Given the description of an element on the screen output the (x, y) to click on. 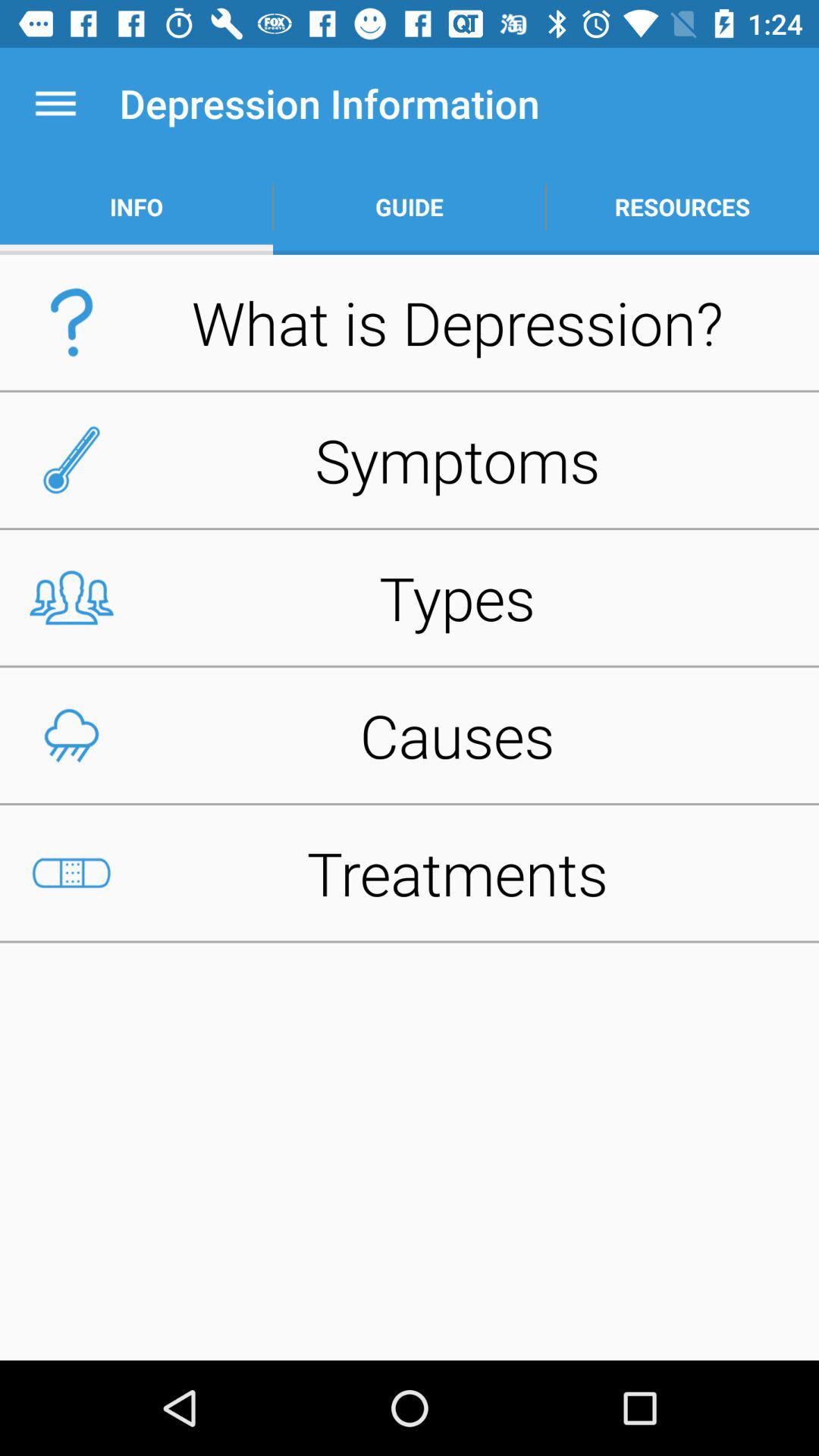
scroll until types (409, 597)
